Given the description of an element on the screen output the (x, y) to click on. 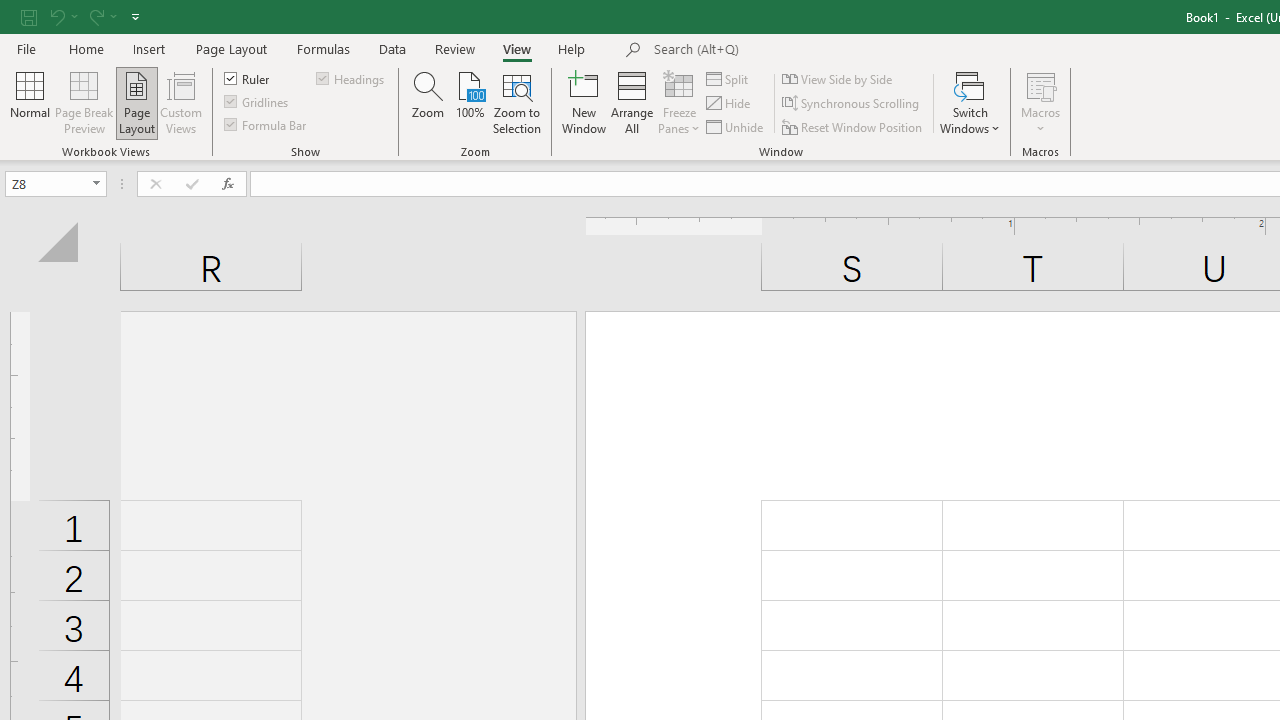
Freeze Panes (678, 102)
